Given the description of an element on the screen output the (x, y) to click on. 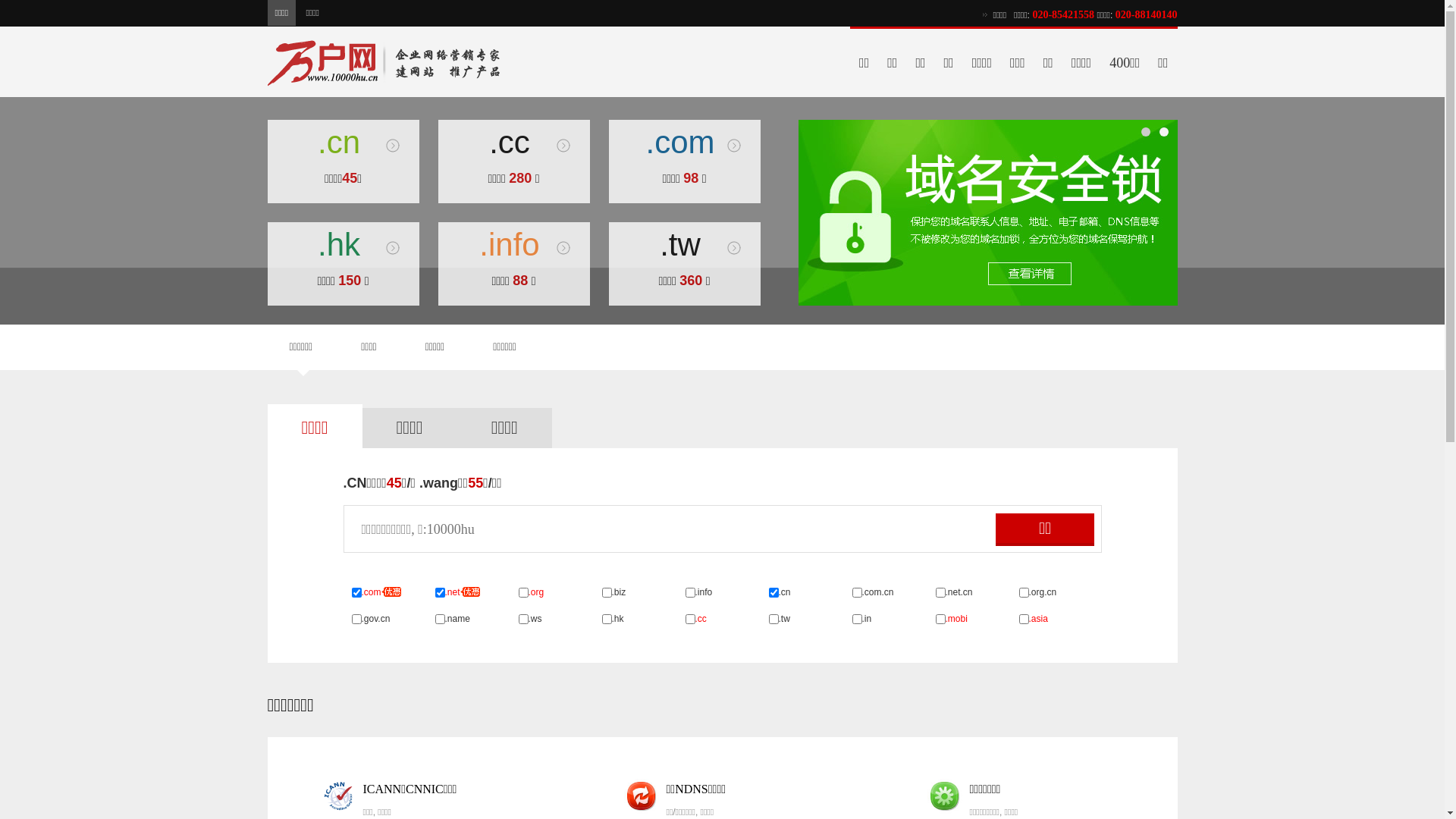
.com Element type: text (684, 142)
.cn Element type: text (342, 142)
.tw Element type: text (684, 244)
.cc Element type: text (513, 142)
.info Element type: text (513, 244)
.hk Element type: text (342, 244)
